Given the description of an element on the screen output the (x, y) to click on. 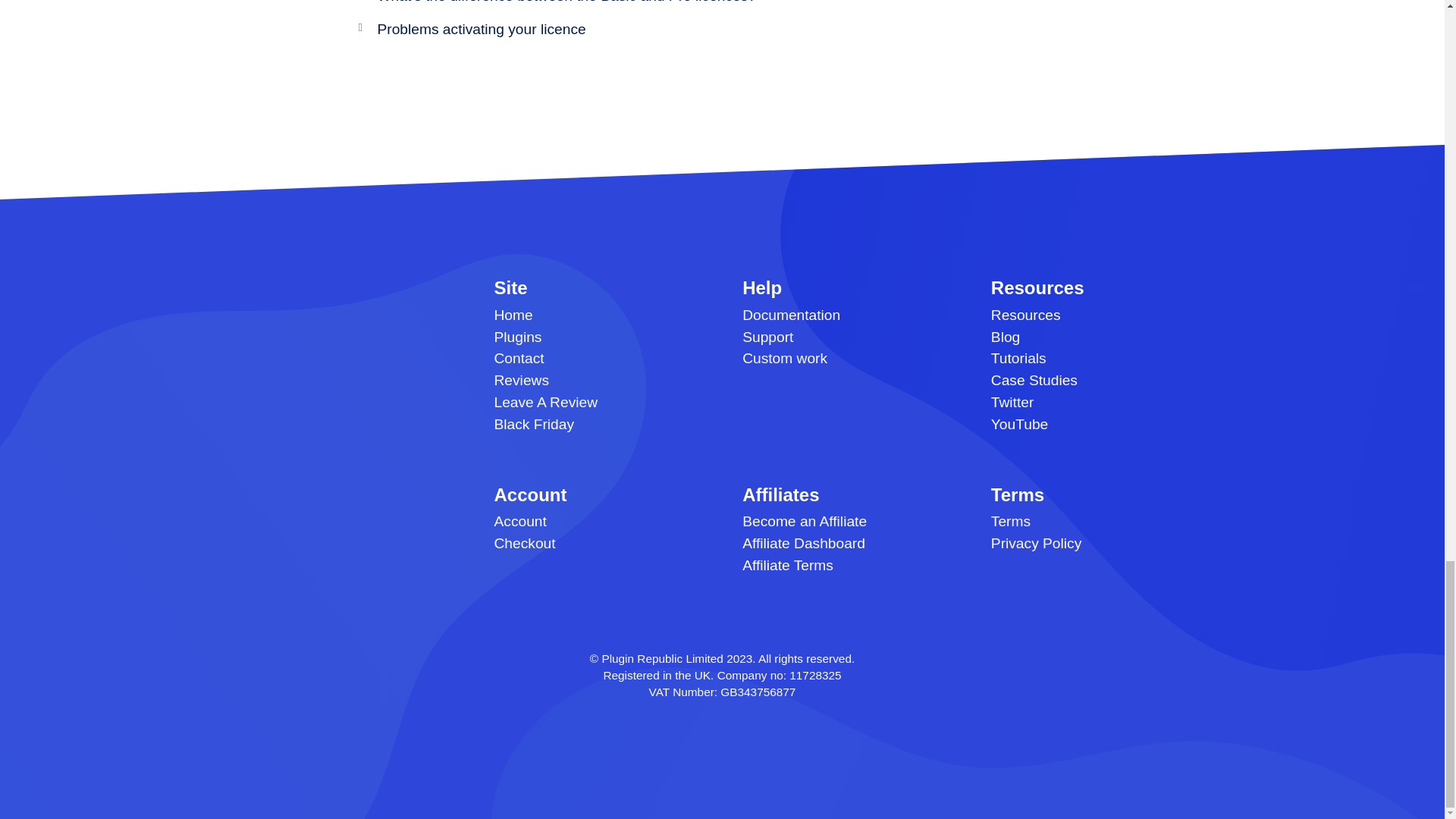
Home (513, 314)
Problems activating your licence (481, 28)
